Given the description of an element on the screen output the (x, y) to click on. 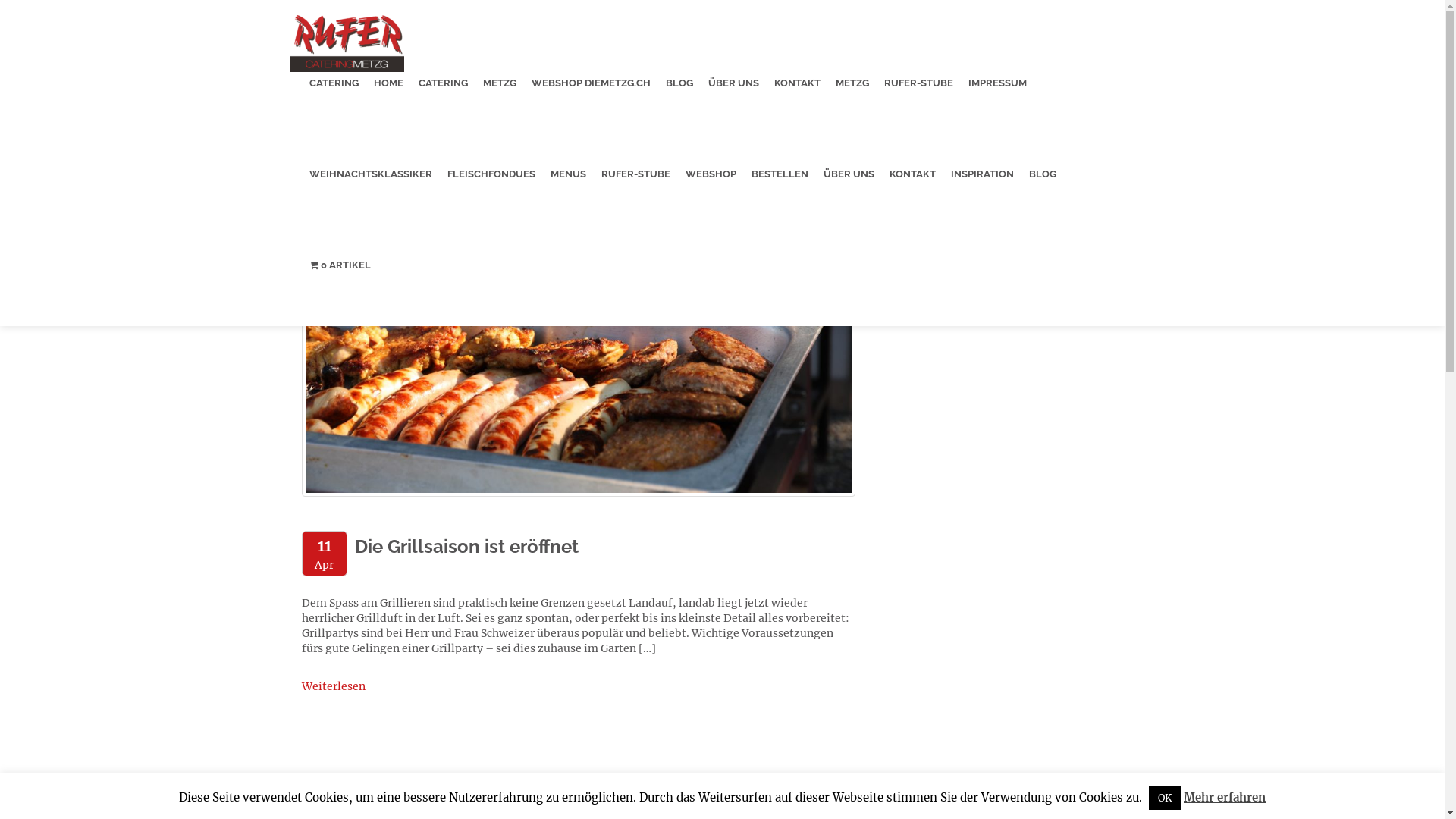
WEBSHOP DIEMETZG.CH Element type: text (590, 82)
Juni 2017 Element type: text (901, 198)
Mehr erfahren Element type: text (1224, 797)
CATERING Element type: text (333, 82)
Weiterlesen Element type: text (333, 686)
Januar 2017 Element type: text (908, 228)
November 2016 Element type: text (919, 259)
KONTAKT Element type: text (911, 173)
BLOG Element type: text (679, 82)
INSPIRATION Element type: text (982, 173)
CATERING Element type: text (443, 82)
METZG Element type: text (498, 82)
BLOG Element type: text (1041, 173)
IMPRESSUM Element type: text (996, 82)
WEBSHOP Element type: text (710, 173)
METZG Element type: text (852, 82)
FLEISCHFONDUES Element type: text (490, 173)
OK Element type: text (1164, 797)
August 2016 Element type: text (910, 304)
Oktober 2016 Element type: text (912, 274)
HOME Element type: text (387, 82)
KONTAKT Element type: text (796, 82)
RUFER-STUBE Element type: text (635, 173)
April 2017 Element type: text (904, 213)
Februar 2019 Element type: text (912, 168)
BESTELLEN Element type: text (779, 173)
Dezember 2016 Element type: text (918, 244)
MENUS Element type: text (567, 173)
0 ARTIKEL Element type: text (339, 264)
RUFER-STUBE Element type: text (918, 82)
11
Apr Element type: text (324, 553)
WEIHNACHTSKLASSIKER Element type: text (370, 173)
September 2016 Element type: text (920, 289)
